Given the description of an element on the screen output the (x, y) to click on. 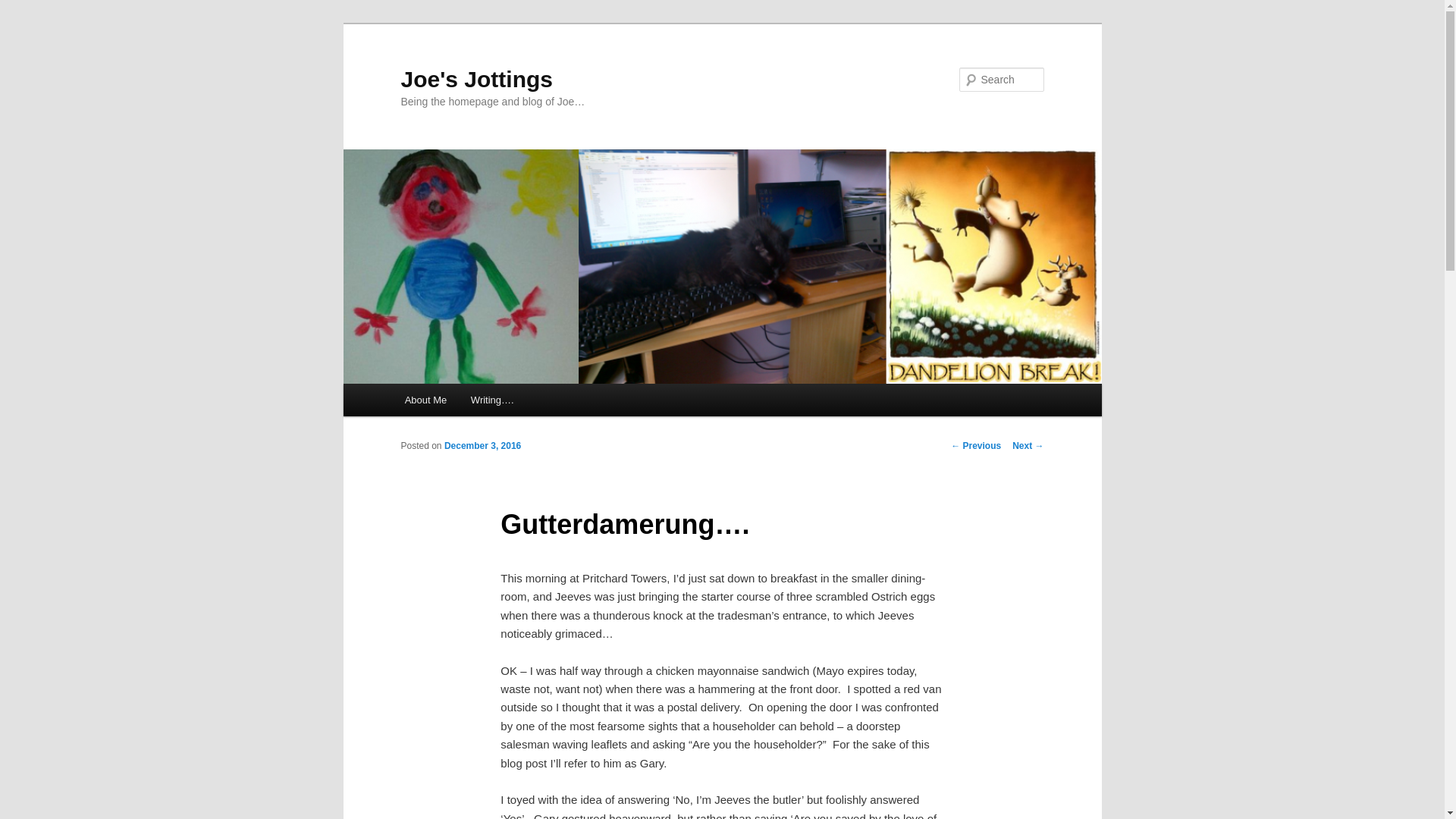
Search (24, 8)
About Me (425, 400)
December 3, 2016 (482, 445)
Joe's Jottings (476, 78)
11:30 am (482, 445)
